Given the description of an element on the screen output the (x, y) to click on. 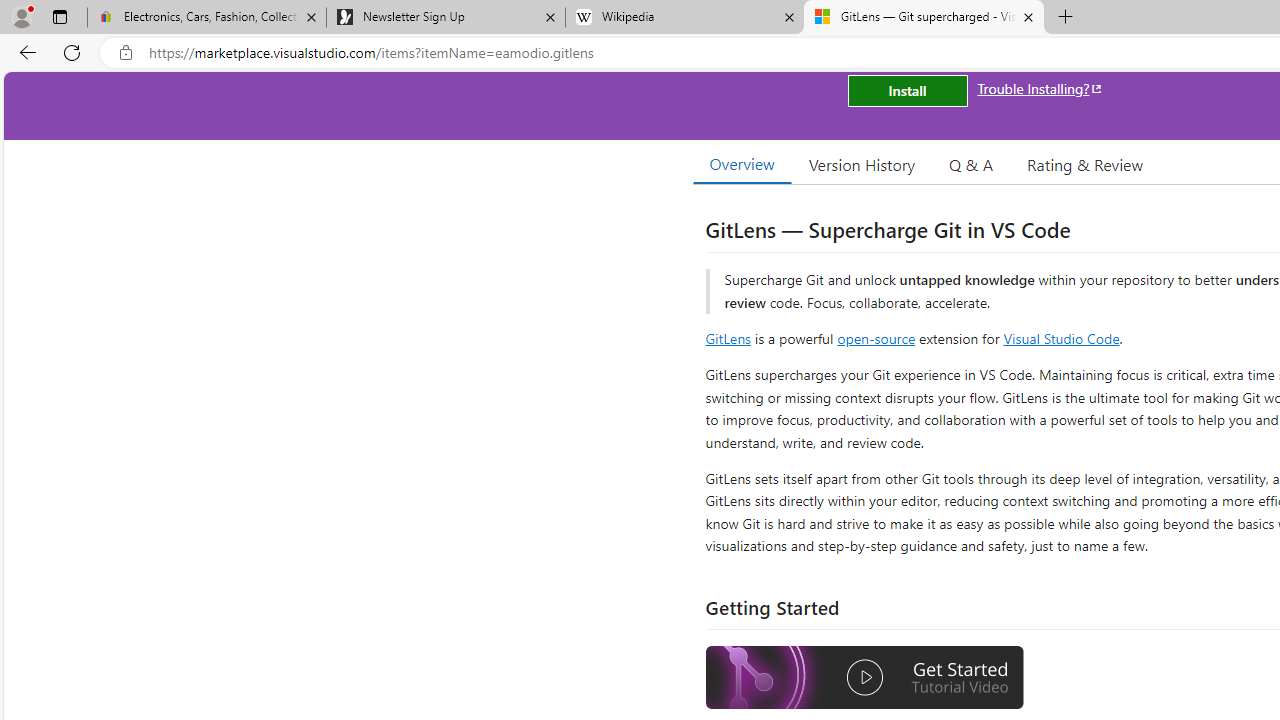
Visual Studio Code (1061, 337)
Electronics, Cars, Fashion, Collectibles & More | eBay (207, 17)
Close tab (1028, 16)
Q & A (971, 164)
Tab actions menu (59, 16)
Watch the GitLens Getting Started video (865, 679)
Rating & Review (1084, 164)
Overview (742, 164)
Watch the GitLens Getting Started video (865, 678)
Version History (862, 164)
New Tab (1066, 17)
GitLens (728, 337)
Install (907, 90)
